Given the description of an element on the screen output the (x, y) to click on. 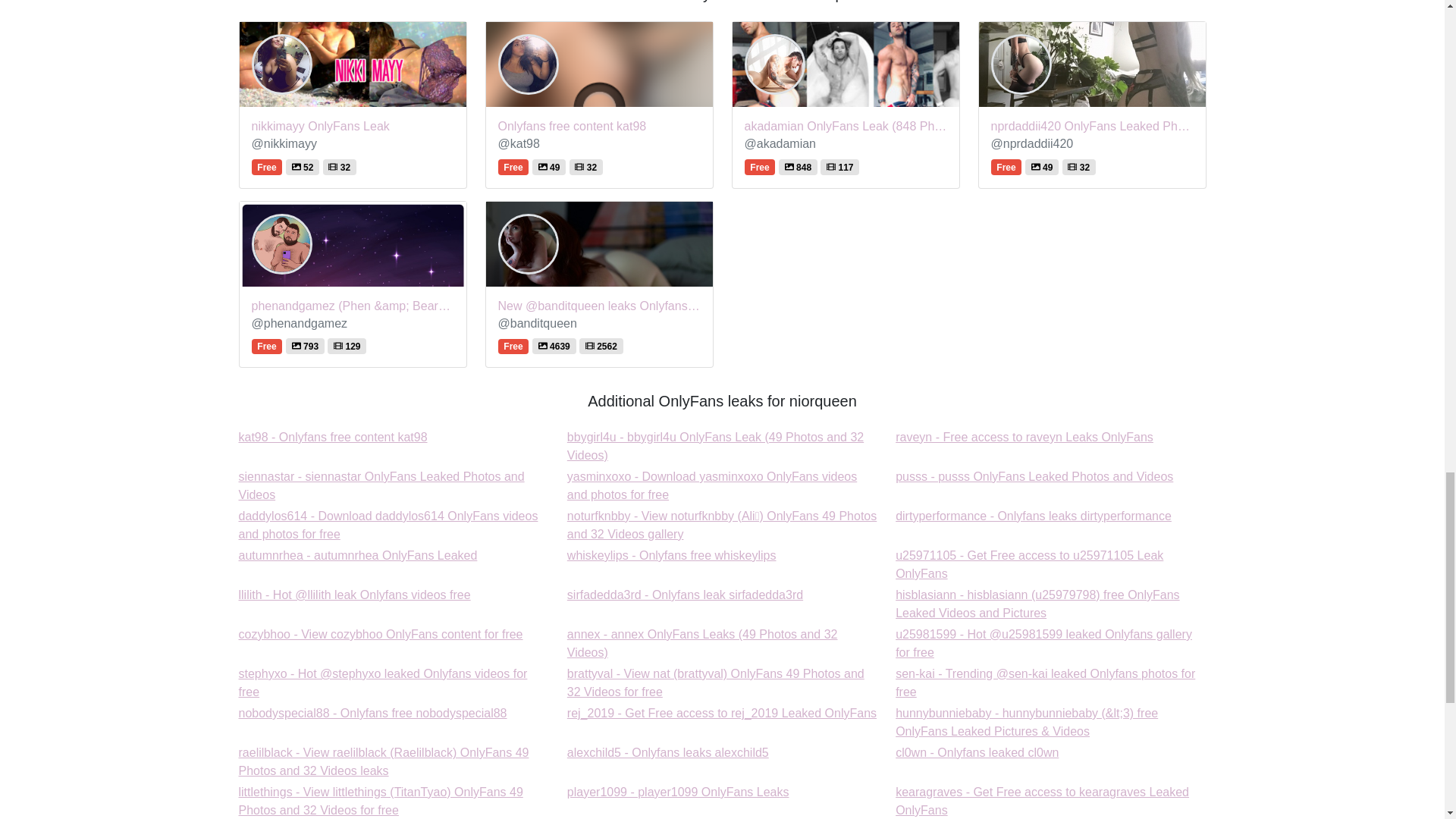
raveyn - Free access to raveyn Leaks OnlyFans (387, 524)
whiskeylips - Onlyfans free whiskeylips (381, 485)
dirtyperformance - Onlyfans leaks dirtyperformance (1024, 436)
siennastar - siennastar OnlyFans Leaked Photos and Videos (1029, 563)
autumnrhea - autumnrhea OnlyFans Leaked (671, 554)
